Given the description of an element on the screen output the (x, y) to click on. 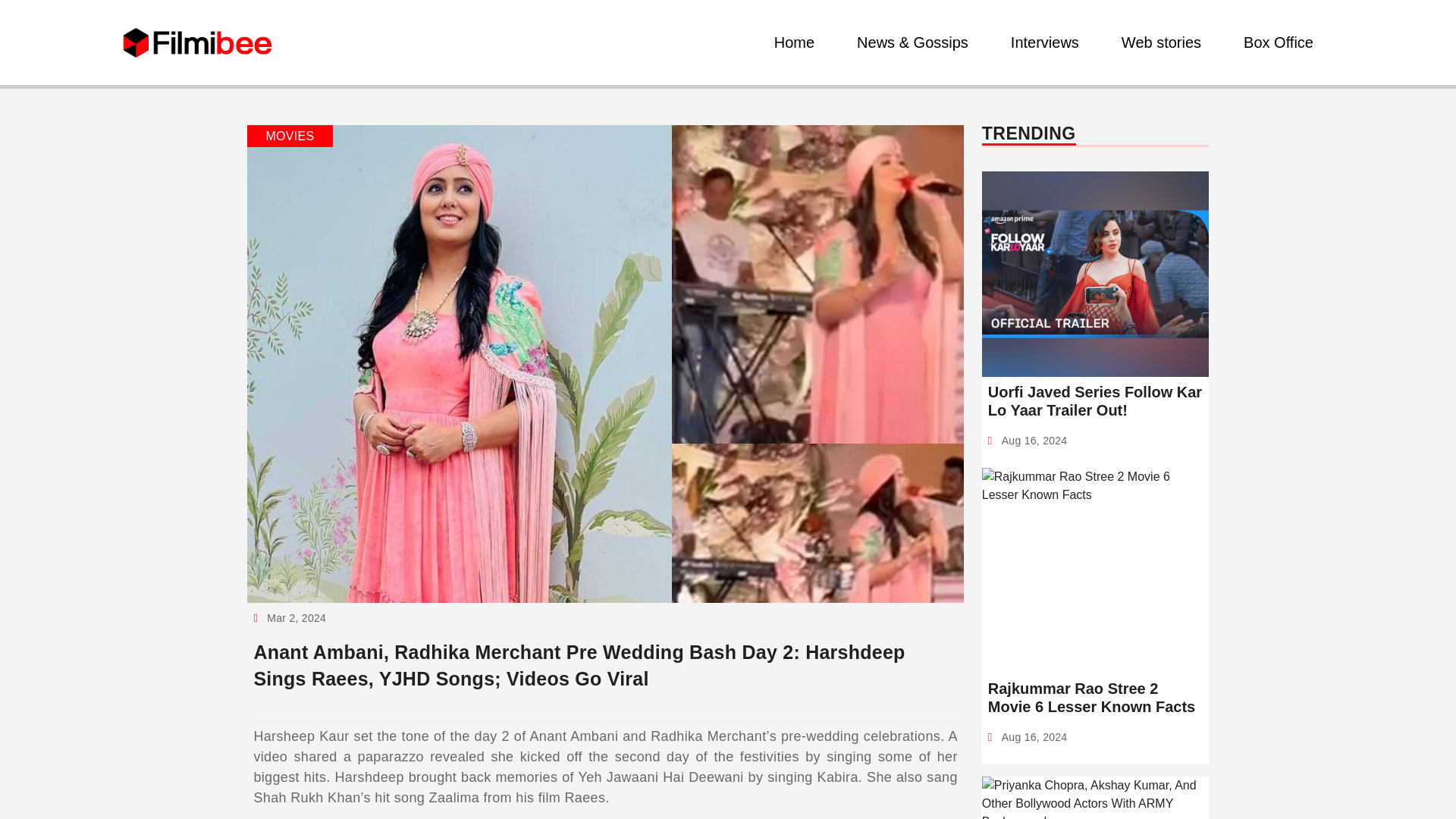
Uorfi Javed Series Follow Kar Lo Yaar Trailer Out! (1095, 401)
Web stories (1161, 42)
Rajkummar Rao Stree 2 Movie 6 Lesser Known Facts (1095, 697)
Box Office (1278, 42)
Home (794, 42)
Interviews (1044, 42)
